Given the description of an element on the screen output the (x, y) to click on. 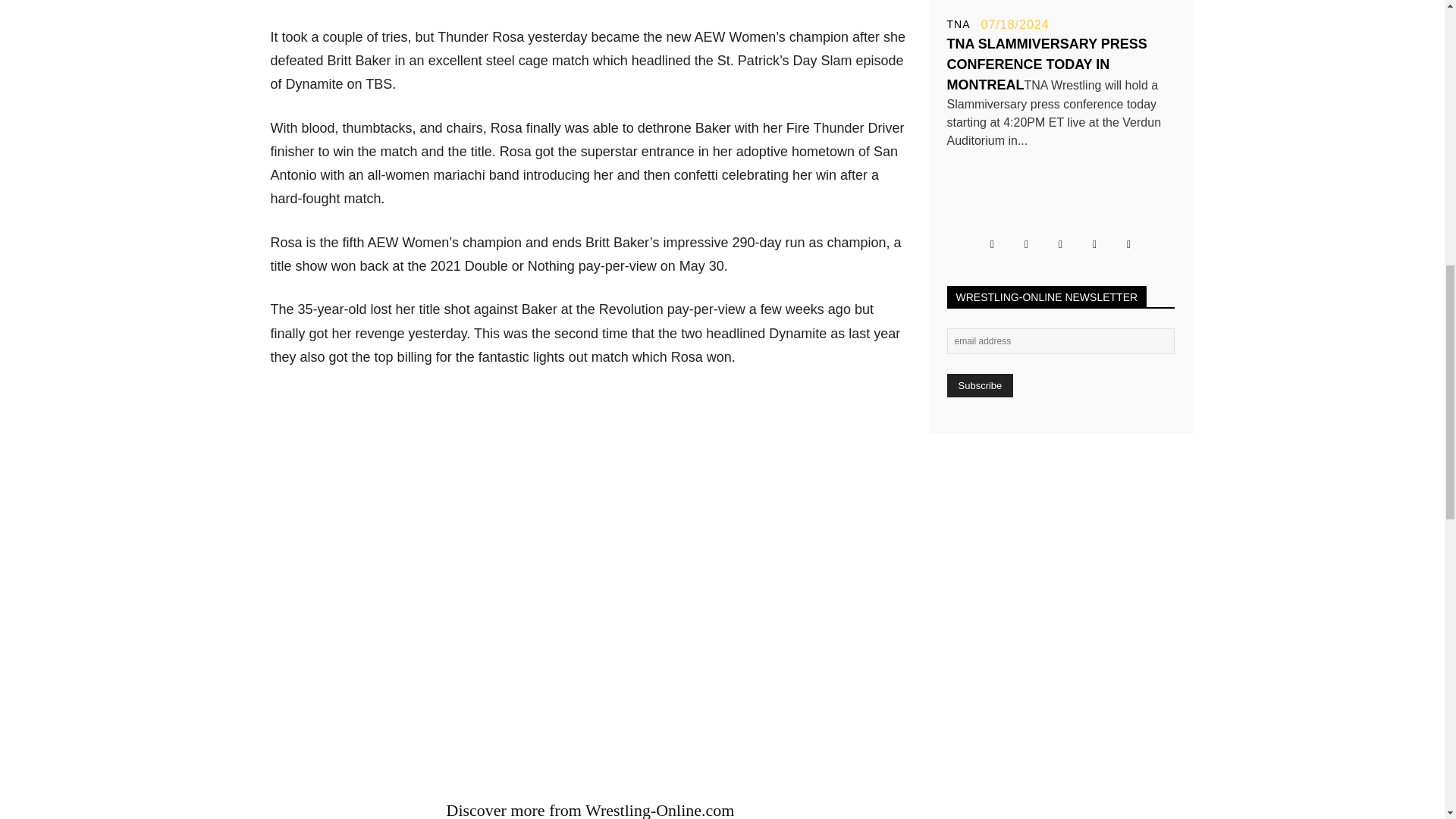
Subscribe (979, 385)
